Given the description of an element on the screen output the (x, y) to click on. 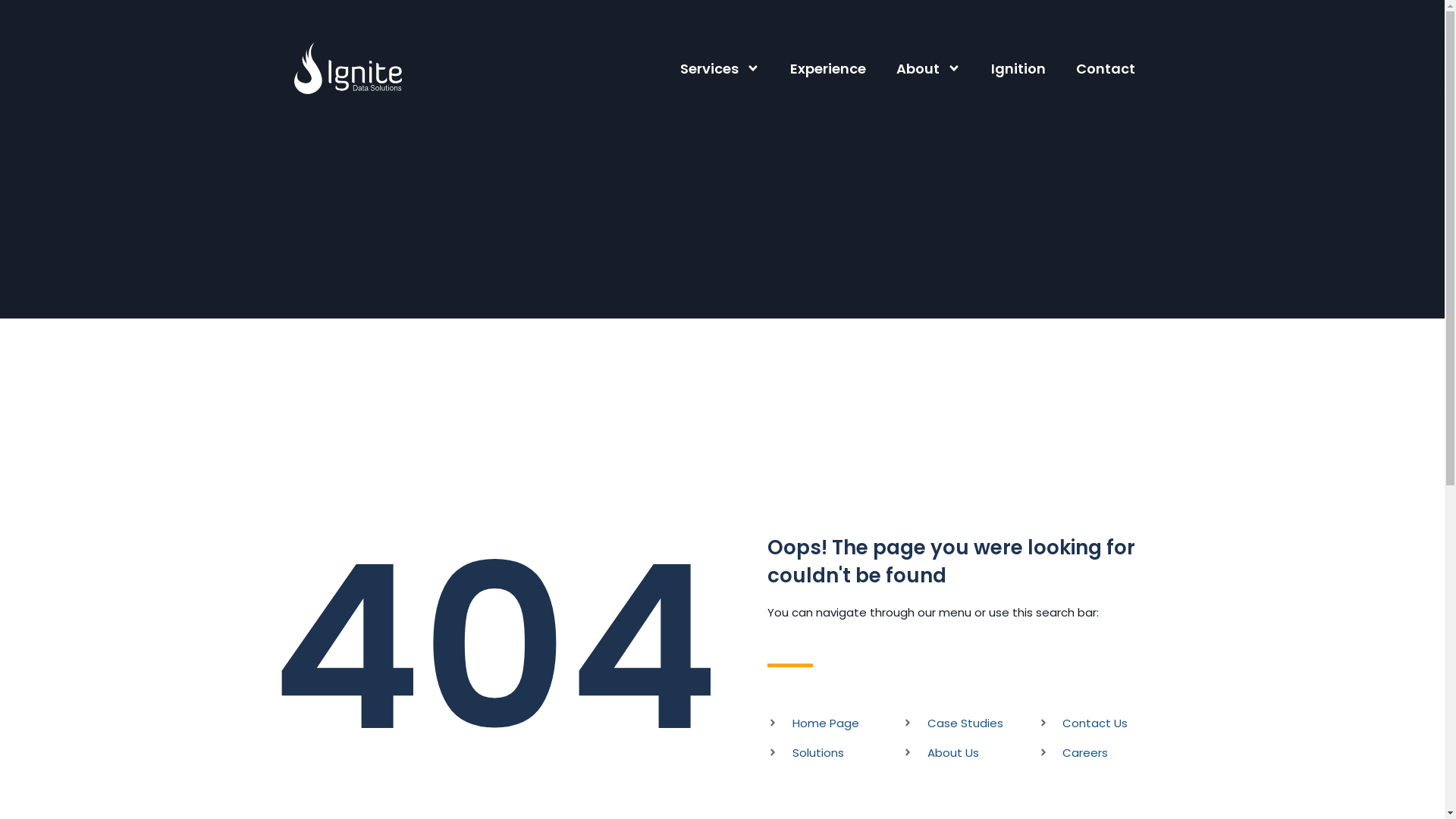
About Us Element type: text (969, 752)
About Element type: text (928, 67)
Contact Element type: text (1105, 67)
Ignition Element type: text (1017, 67)
Case Studies Element type: text (969, 722)
Home Page Element type: text (834, 722)
Contact Us Element type: text (1105, 722)
Experience Element type: text (828, 67)
Careers Element type: text (1105, 752)
Solutions Element type: text (834, 752)
Services Element type: text (720, 67)
